Given the description of an element on the screen output the (x, y) to click on. 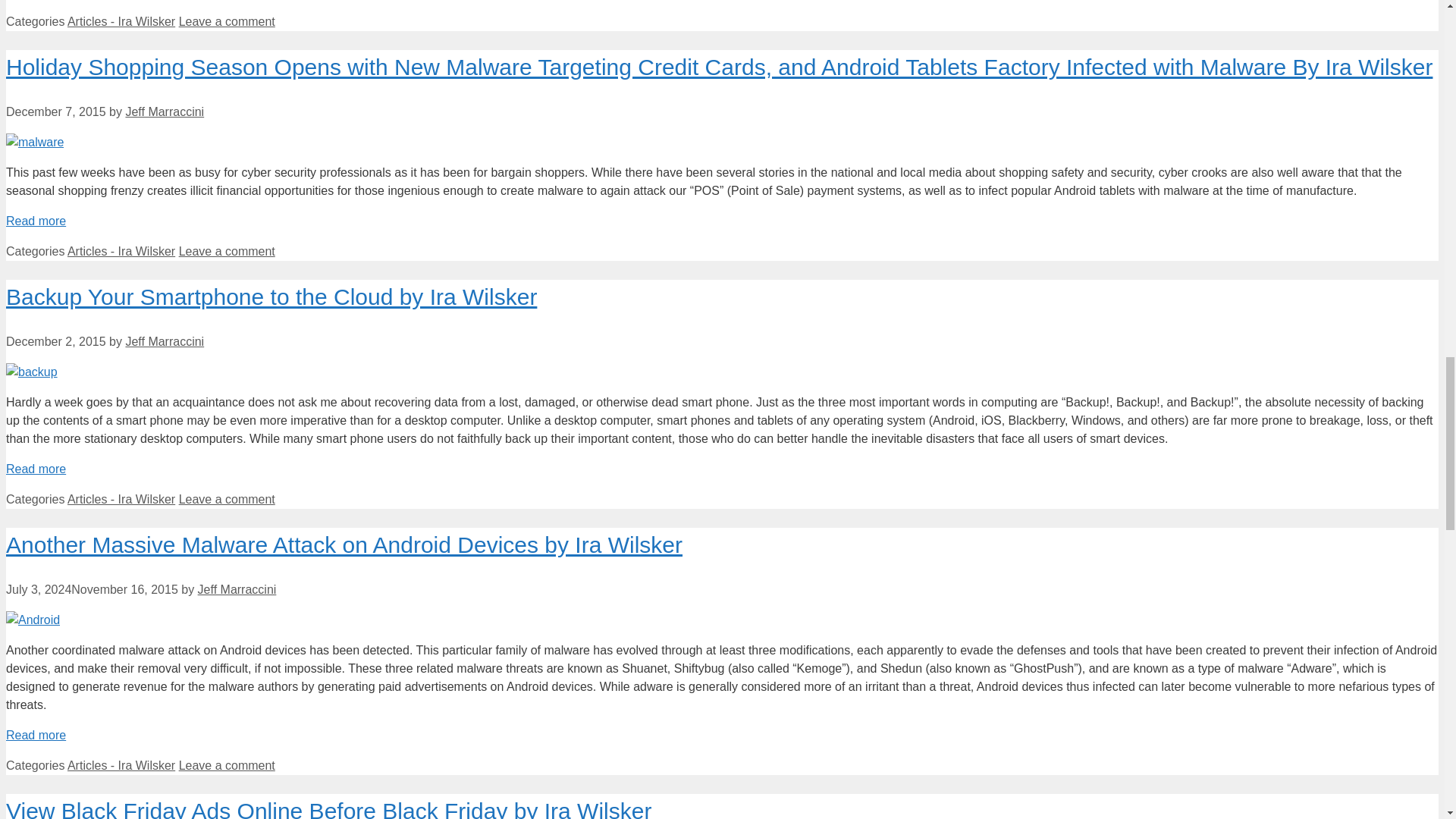
View all posts by Jeff Marraccini (164, 341)
Backup Your Smartphone to the Cloud by Ira Wilsker (35, 468)
View all posts by Jeff Marraccini (164, 111)
View all posts by Jeff Marraccini (237, 589)
